Given the description of an element on the screen output the (x, y) to click on. 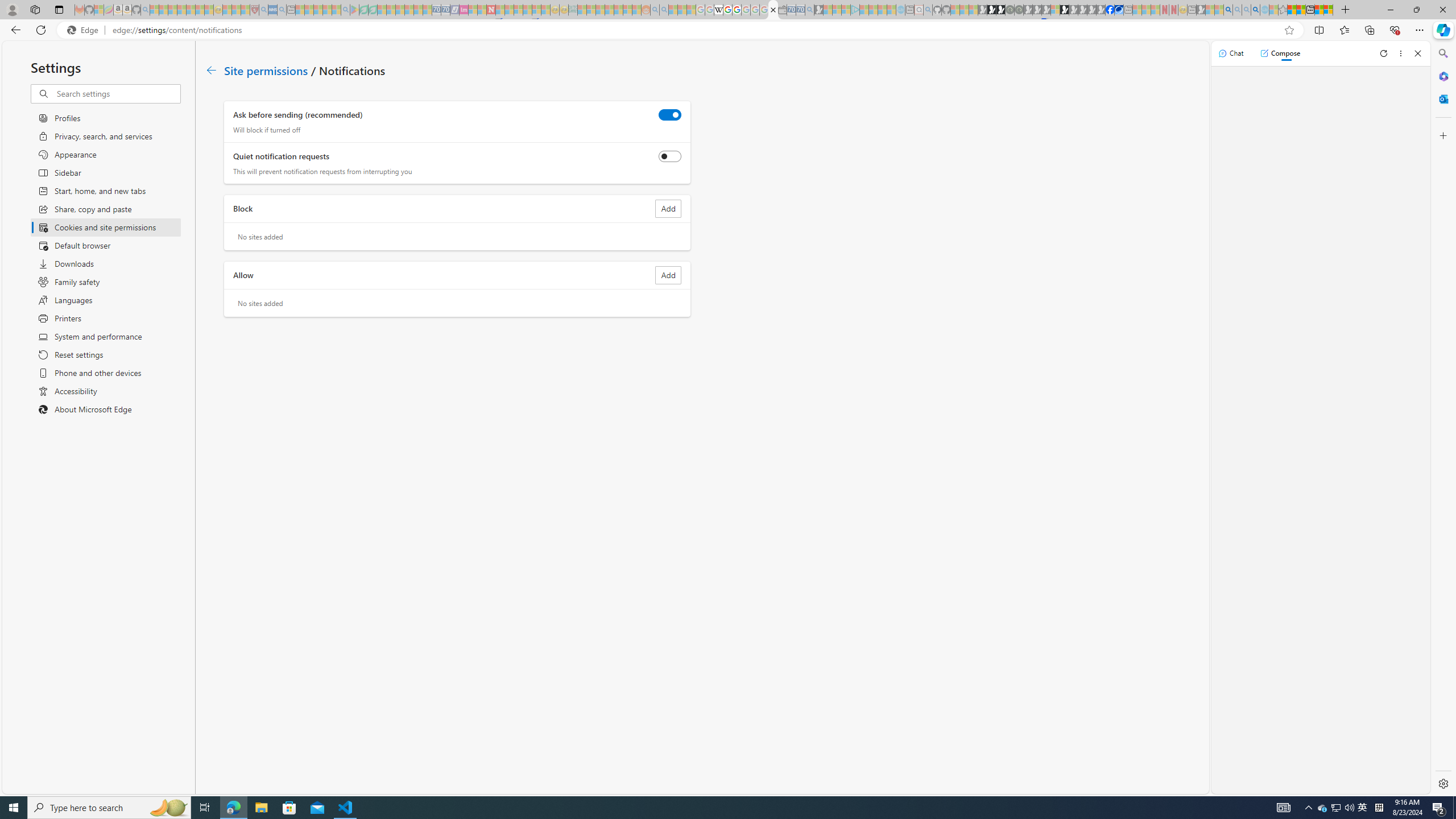
Latest Politics News & Archive | Newsweek.com - Sleeping (490, 9)
Microsoft account | Privacy - Sleeping (846, 9)
Chat (1230, 52)
Utah sues federal government - Search - Sleeping (663, 9)
Nordace | Facebook (1109, 9)
Microsoft account | Privacy (1328, 9)
App bar (728, 29)
Favorites - Sleeping (1283, 9)
